Given the description of an element on the screen output the (x, y) to click on. 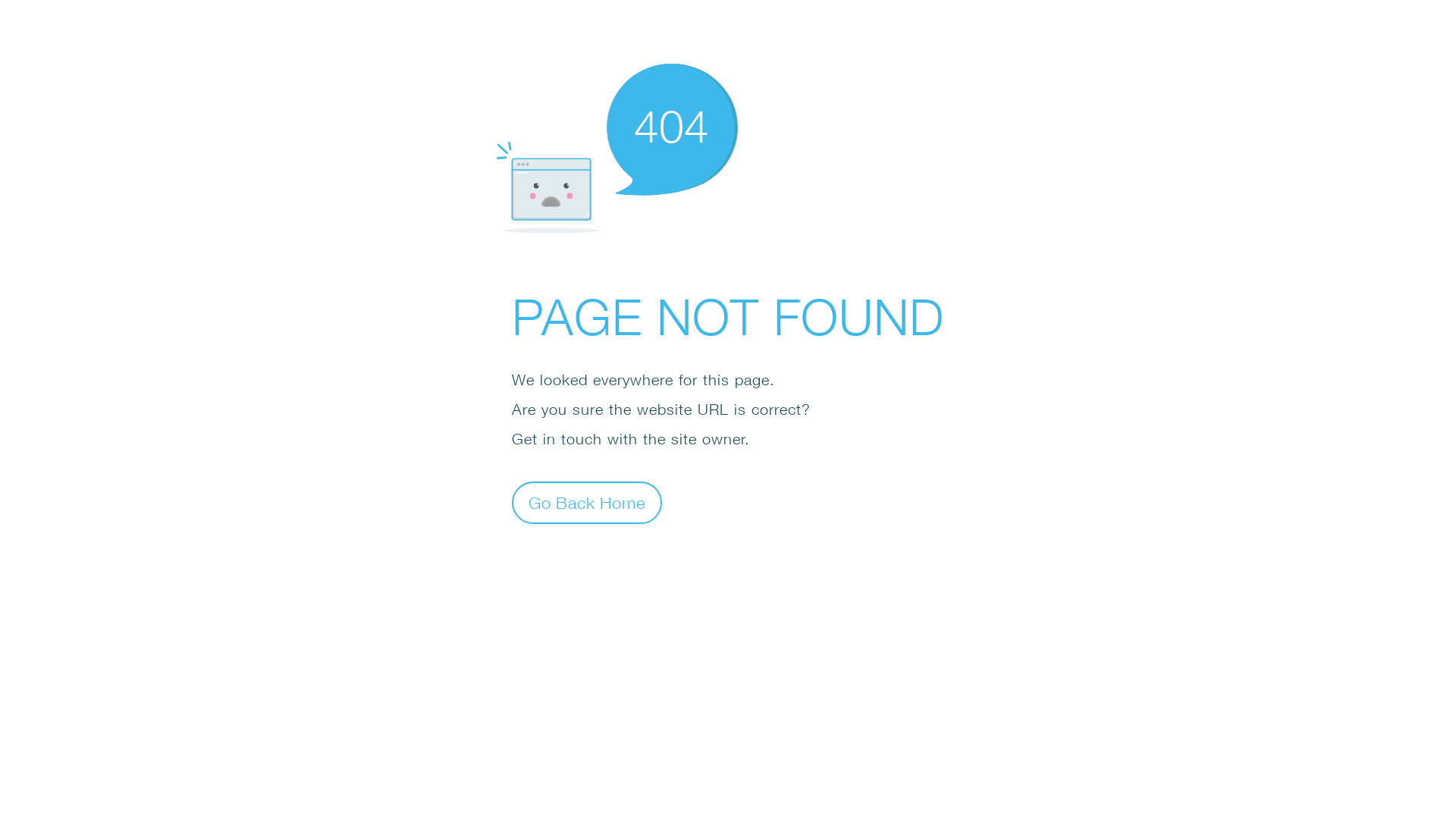
Go Back Home Element type: text (586, 502)
